Given the description of an element on the screen output the (x, y) to click on. 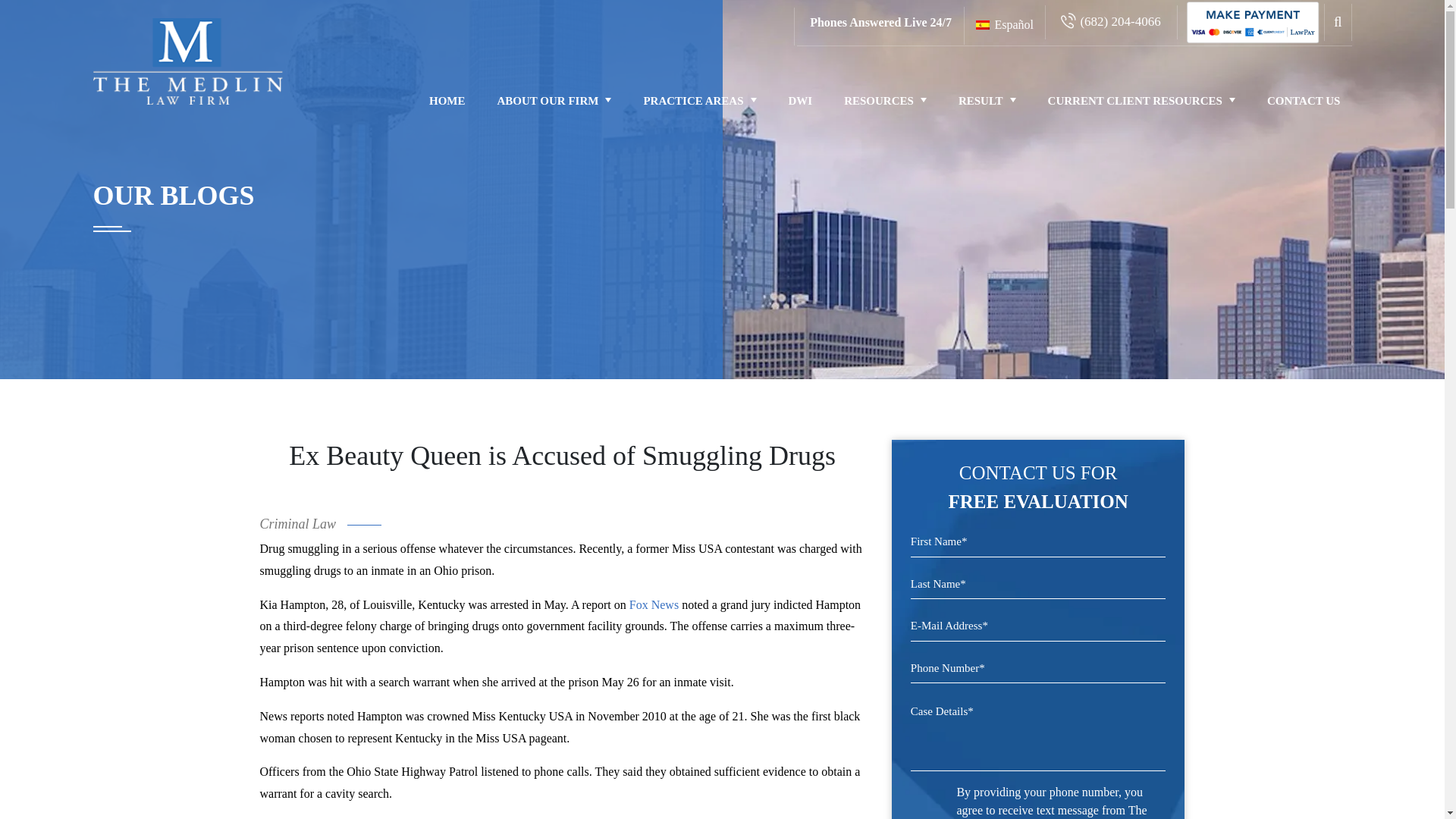
HOME (447, 100)
PRACTICE AREAS (699, 100)
ABOUT OUR FIRM (554, 100)
